Given the description of an element on the screen output the (x, y) to click on. 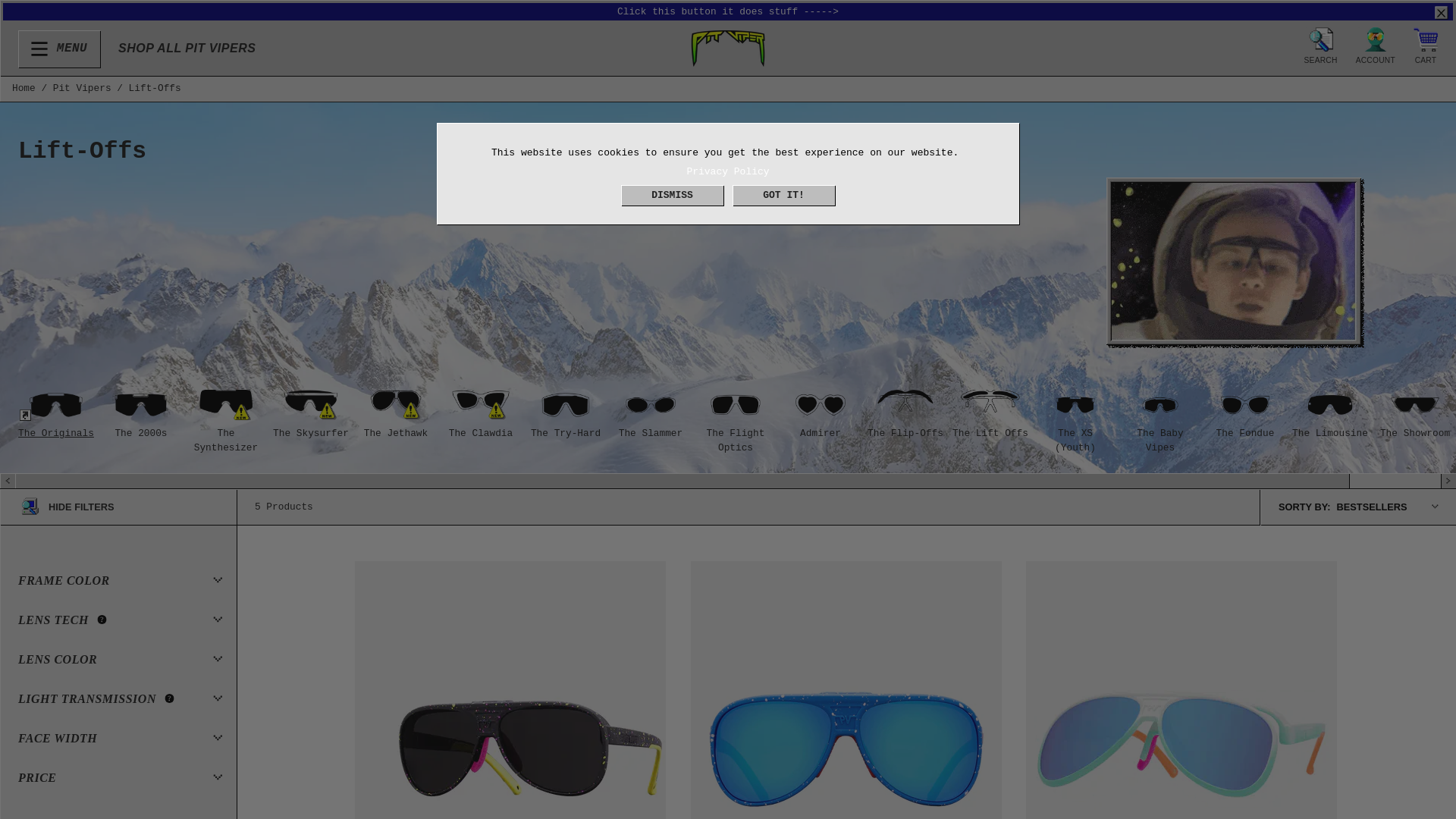
Close (1441, 12)
SHOP ALL PIT VIPERS (186, 48)
Close (58, 48)
